Given the description of an element on the screen output the (x, y) to click on. 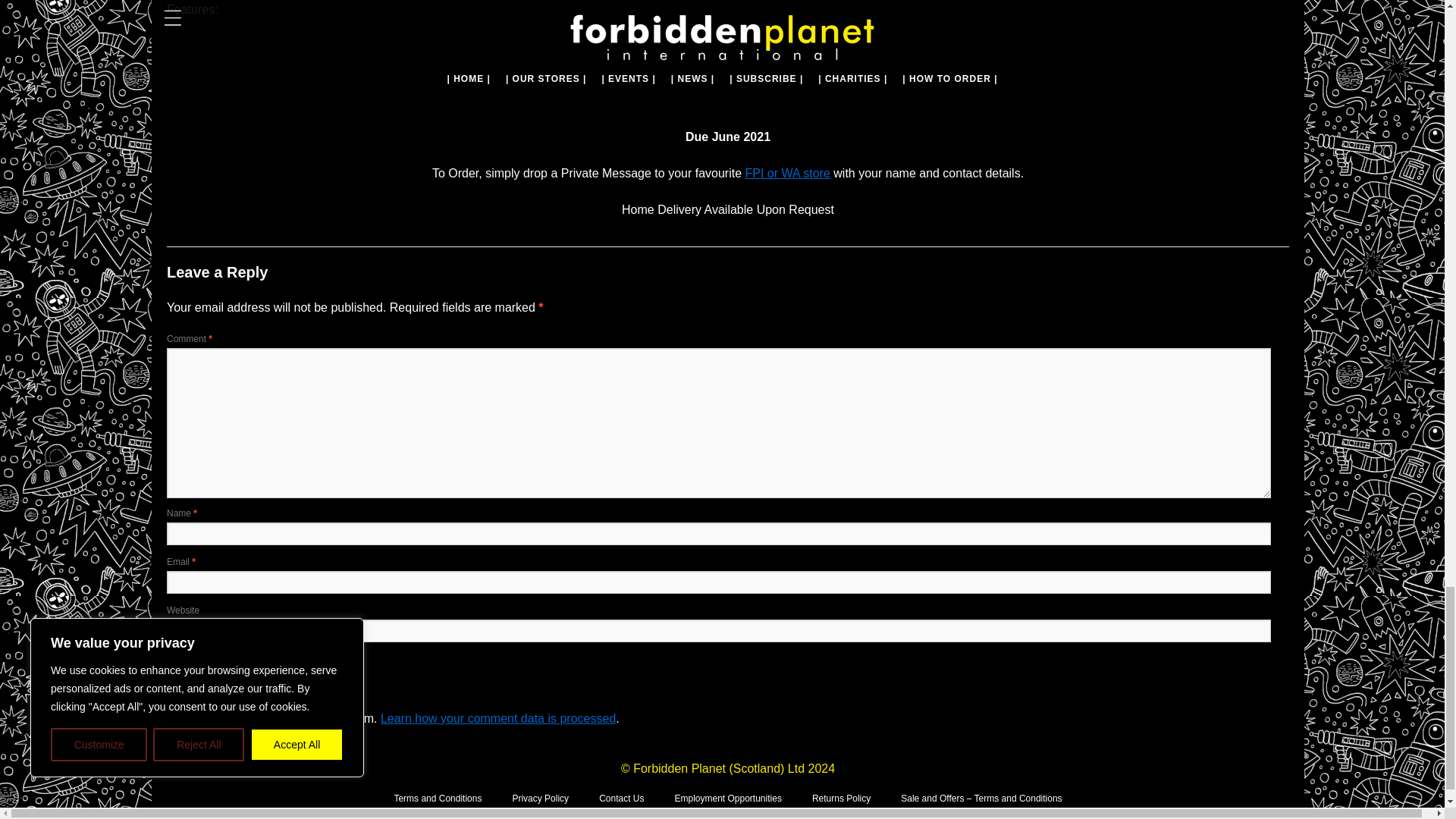
Privacy Policy (540, 798)
Terms and Conditions (437, 798)
Post Comment (207, 667)
Post Comment (207, 667)
Learn how your comment data is processed (497, 717)
FPI or WA store (787, 173)
